Given the description of an element on the screen output the (x, y) to click on. 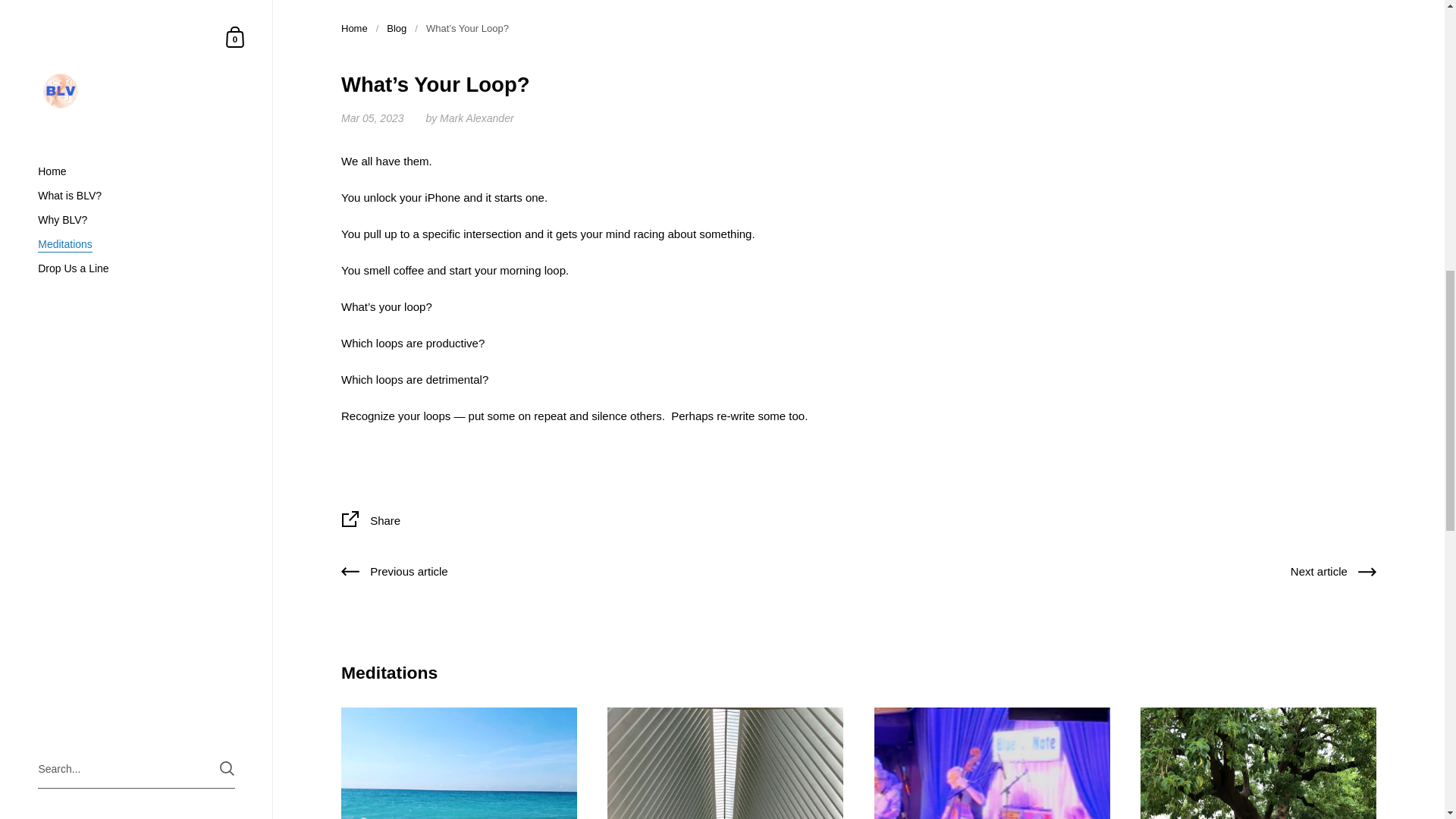
Blog (396, 28)
A True Encounter (458, 763)
Next article (1332, 574)
Home (354, 28)
Share (857, 522)
Practice Makes Perfect (725, 763)
Next article (1332, 574)
Previous article (394, 574)
Prayerful Jazz (991, 763)
Previous article (394, 574)
Strong Peace (1257, 763)
